Given the description of an element on the screen output the (x, y) to click on. 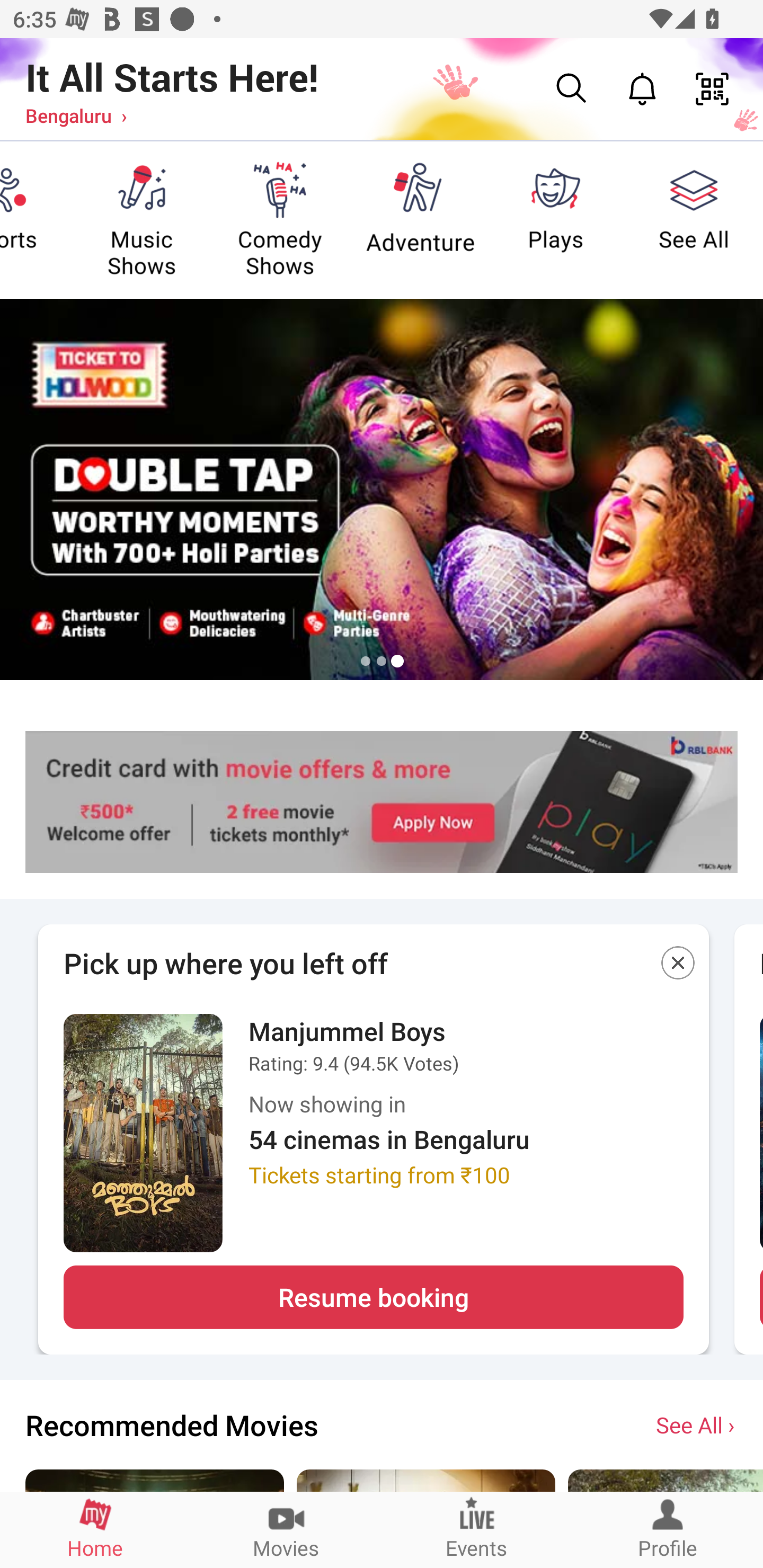
Bengaluru  › (76, 114)
  (678, 966)
Resume booking (373, 1297)
See All › (696, 1424)
Home (95, 1529)
Movies (285, 1529)
Events (476, 1529)
Profile (667, 1529)
